Given the description of an element on the screen output the (x, y) to click on. 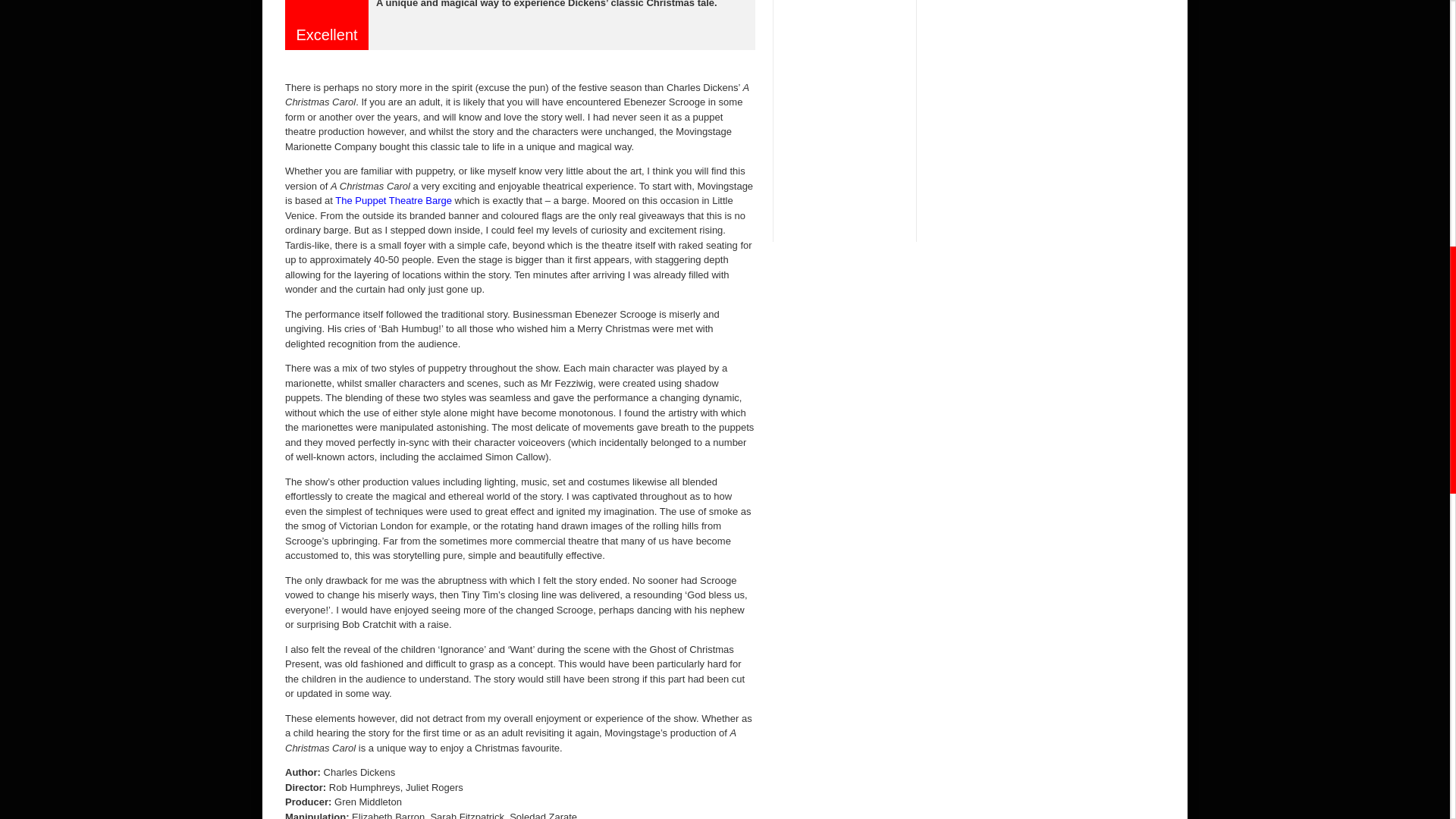
The Puppet Theatre Barge (392, 200)
Excellent (326, 11)
